Given the description of an element on the screen output the (x, y) to click on. 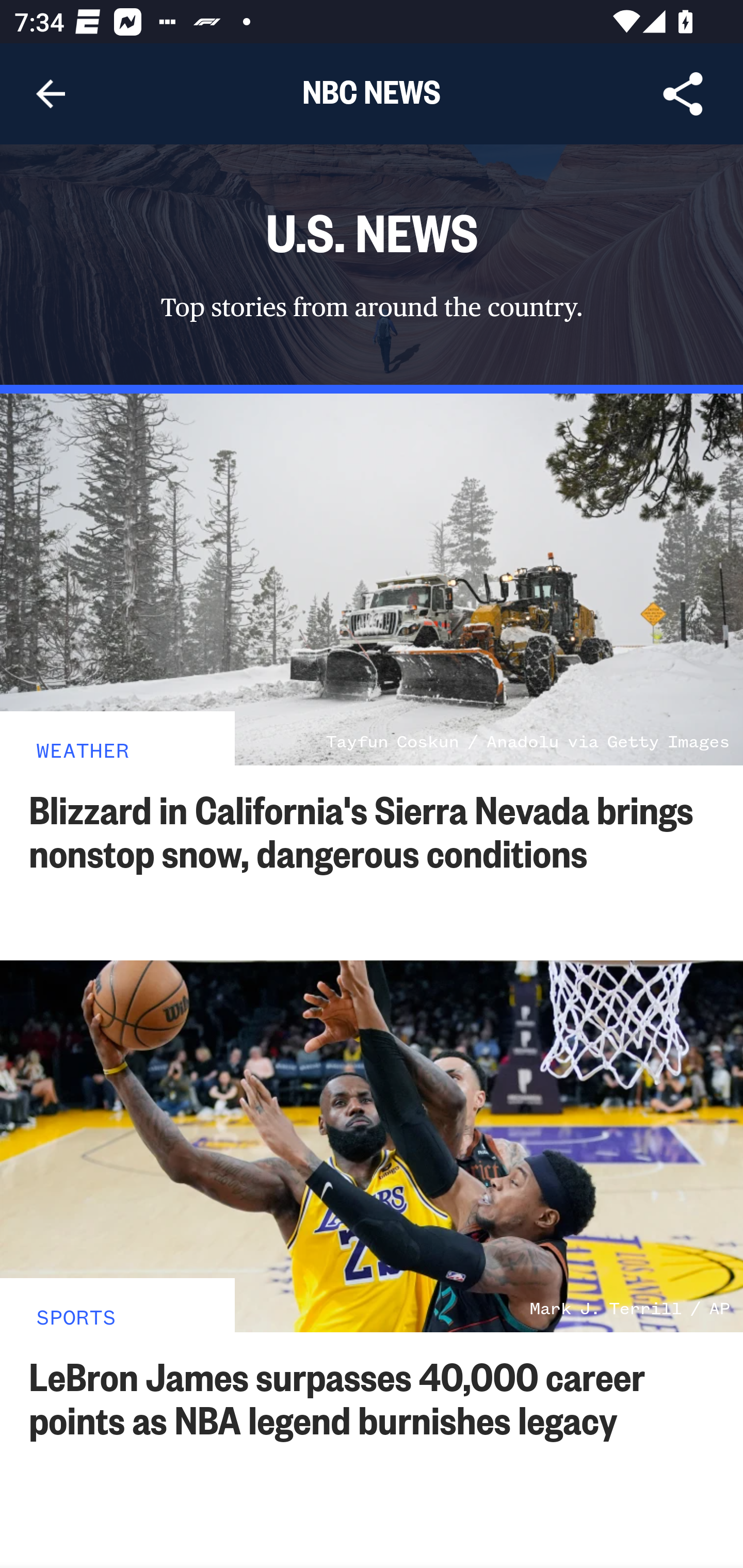
Navigate up (50, 93)
Share Article, button (683, 94)
WEATHER (83, 749)
SPORTS (76, 1315)
